Given the description of an element on the screen output the (x, y) to click on. 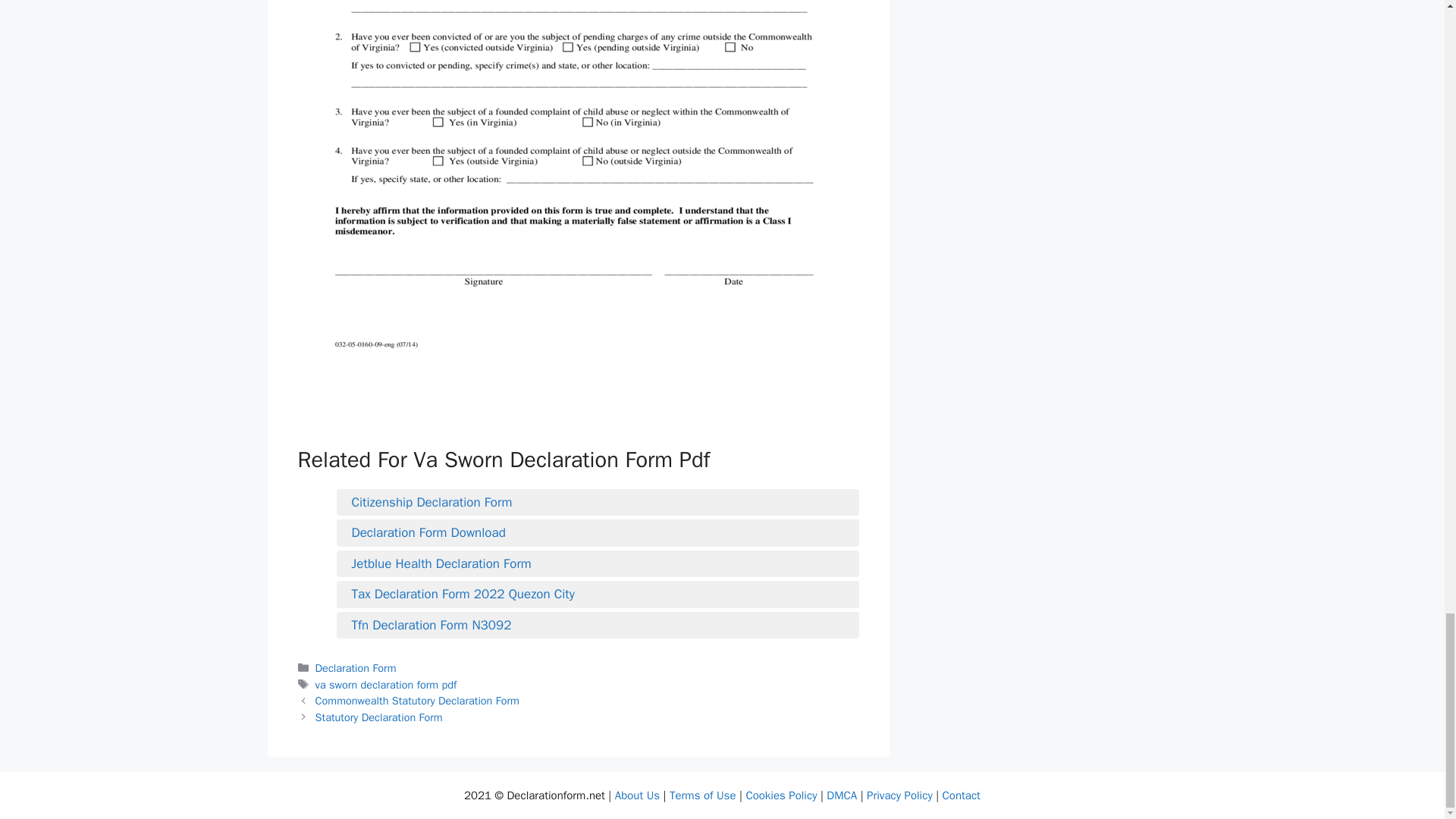
Declaration Form (355, 667)
Statutory Declaration Form (378, 716)
About Us (636, 795)
DMCA (842, 795)
Commonwealth Statutory Declaration Form (417, 700)
Tfn Declaration Form N3092 (597, 625)
Contact (960, 795)
Declaration Form Download (597, 532)
Jetblue Health Declaration Form (597, 563)
Tax Declaration Form 2022 Quezon City (597, 594)
